Given the description of an element on the screen output the (x, y) to click on. 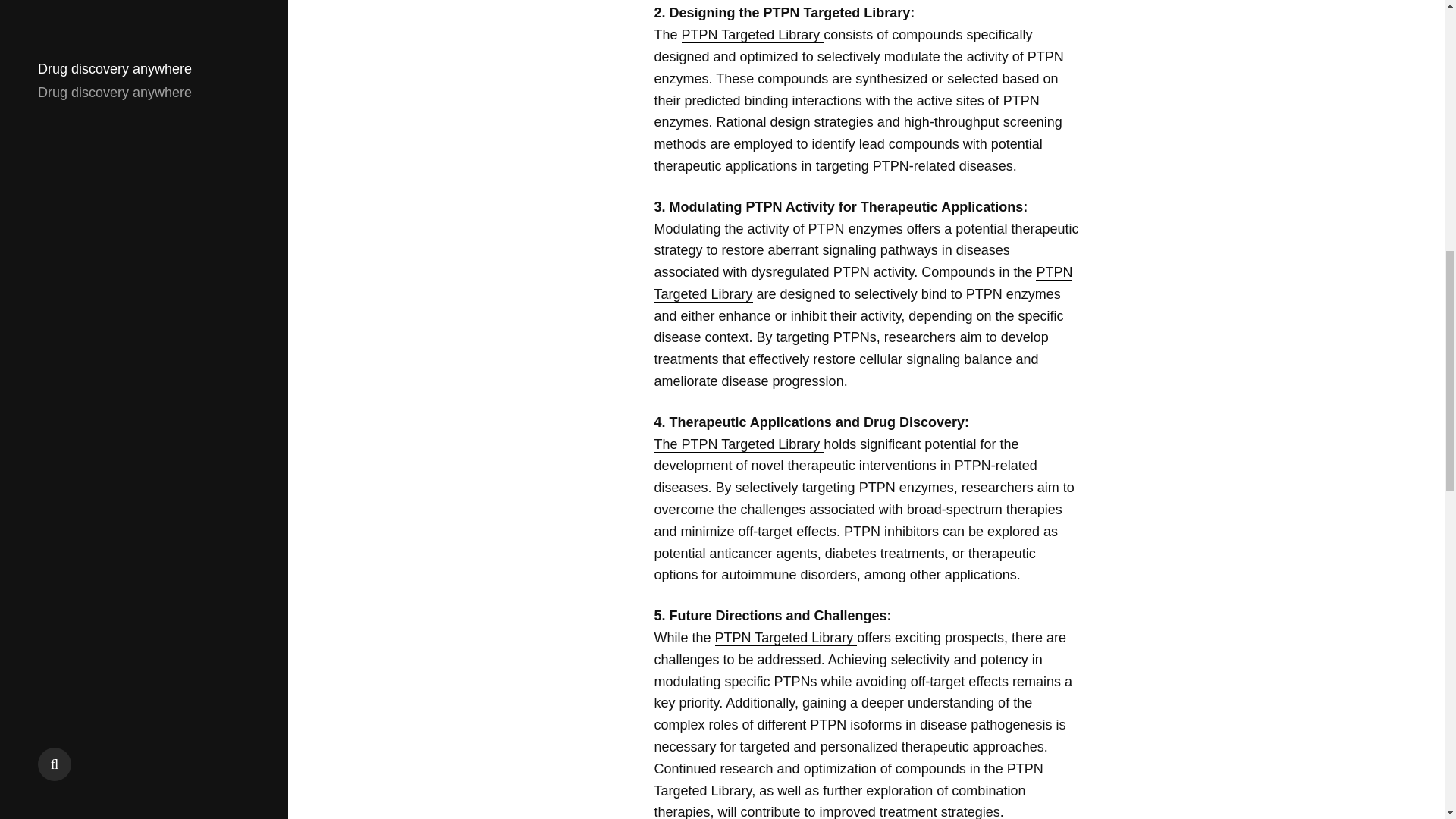
The PTPN Targeted Library (738, 444)
PTPN (826, 229)
PTPN Targeted Library (862, 283)
PTPN Targeted Library (785, 637)
PTPN Targeted Library (752, 35)
